Given the description of an element on the screen output the (x, y) to click on. 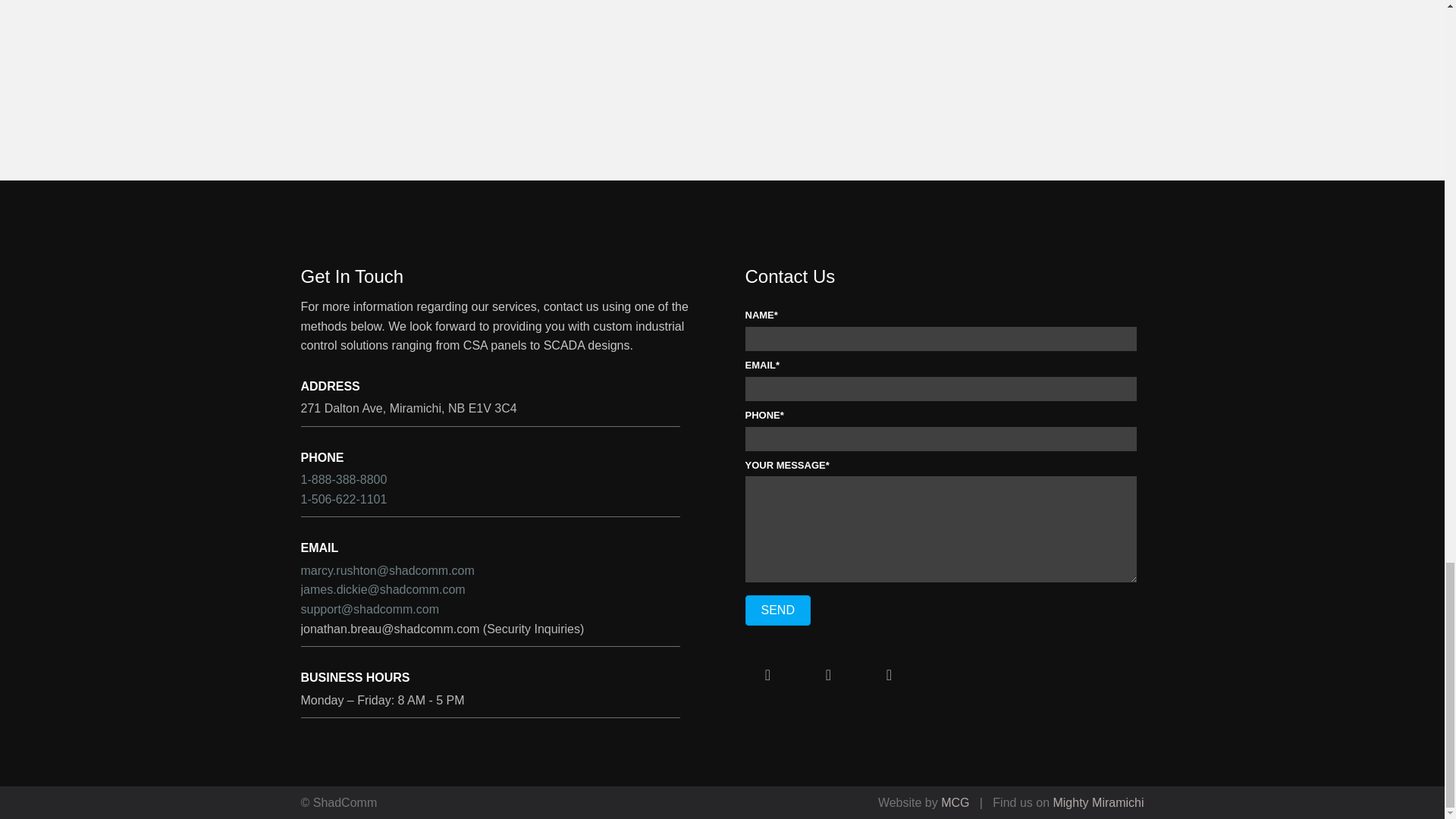
Instagram (888, 674)
YouTube (827, 674)
Facebook (767, 674)
